Given the description of an element on the screen output the (x, y) to click on. 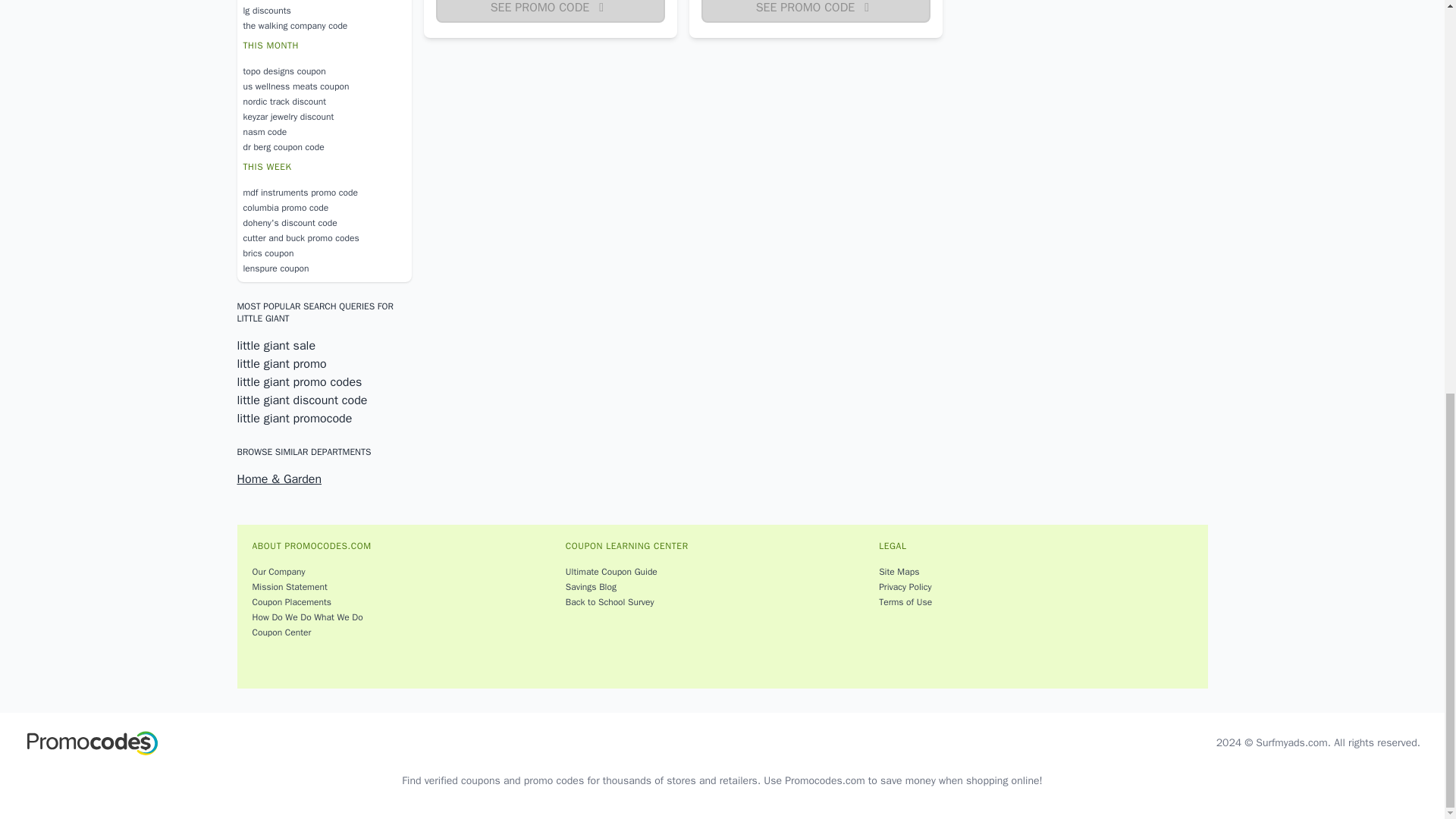
us wellness meats coupon (323, 86)
doheny's discount code (323, 222)
the walking company code (323, 25)
nasm code (323, 131)
cutter and buck promo codes (323, 237)
topo designs coupon (323, 70)
columbia promo code (323, 207)
lg discounts (323, 10)
mdf instruments promo code (323, 192)
keyzar jewelry discount (323, 116)
dr berg coupon code (323, 146)
venus coupon code (323, 1)
brics coupon (323, 253)
nordic track discount (323, 101)
